Given the description of an element on the screen output the (x, y) to click on. 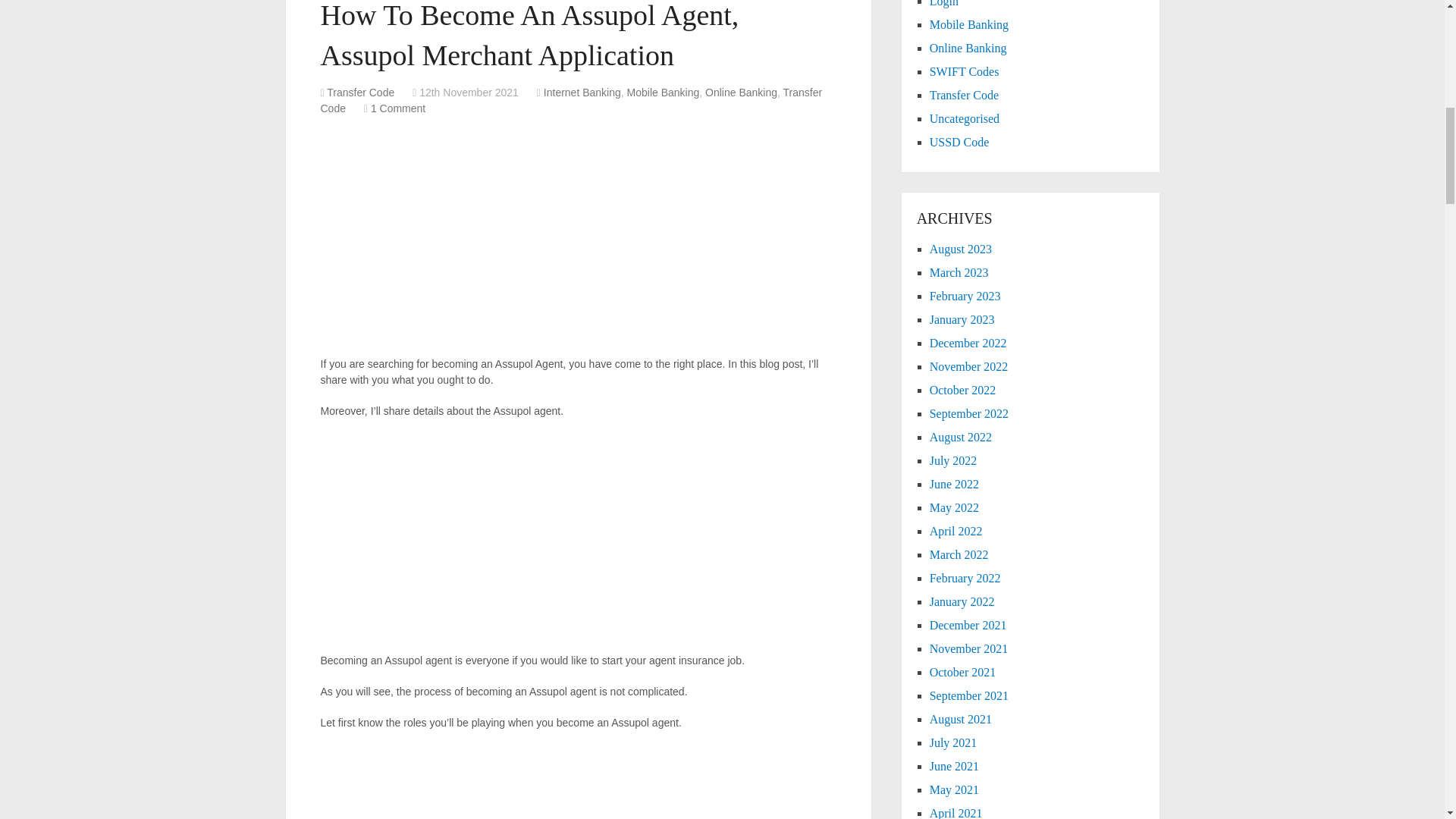
Mobile Banking (663, 92)
1 Comment (398, 108)
Transfer Code (571, 100)
Internet Banking (582, 92)
View all posts in Online Banking (740, 92)
View all posts in Transfer Code (571, 100)
Online Banking (740, 92)
View all posts in Internet Banking (582, 92)
Transfer Code (360, 92)
View all posts in Mobile Banking (663, 92)
Posts by Transfer Code (360, 92)
